Given the description of an element on the screen output the (x, y) to click on. 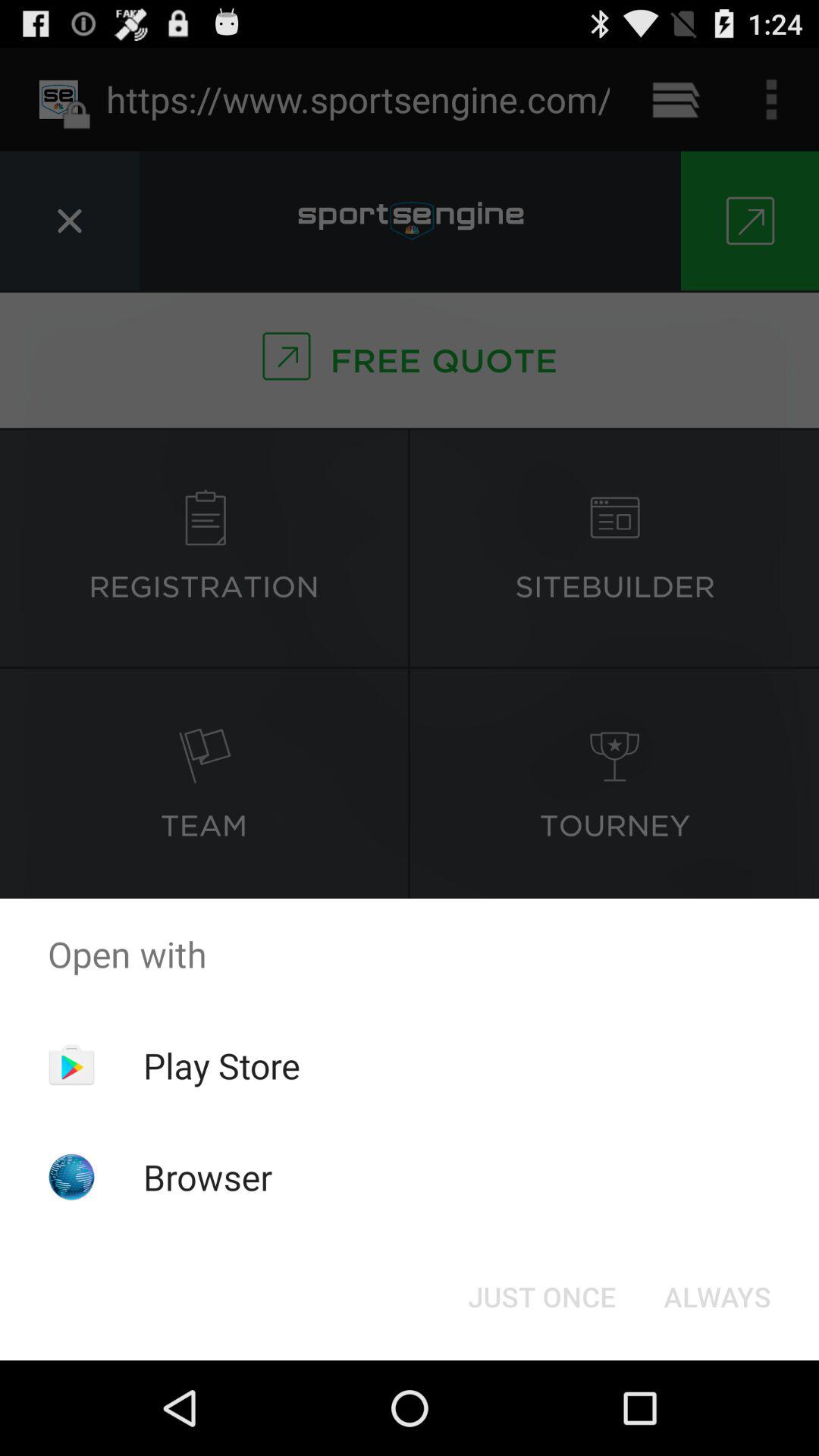
press item below open with icon (541, 1296)
